Given the description of an element on the screen output the (x, y) to click on. 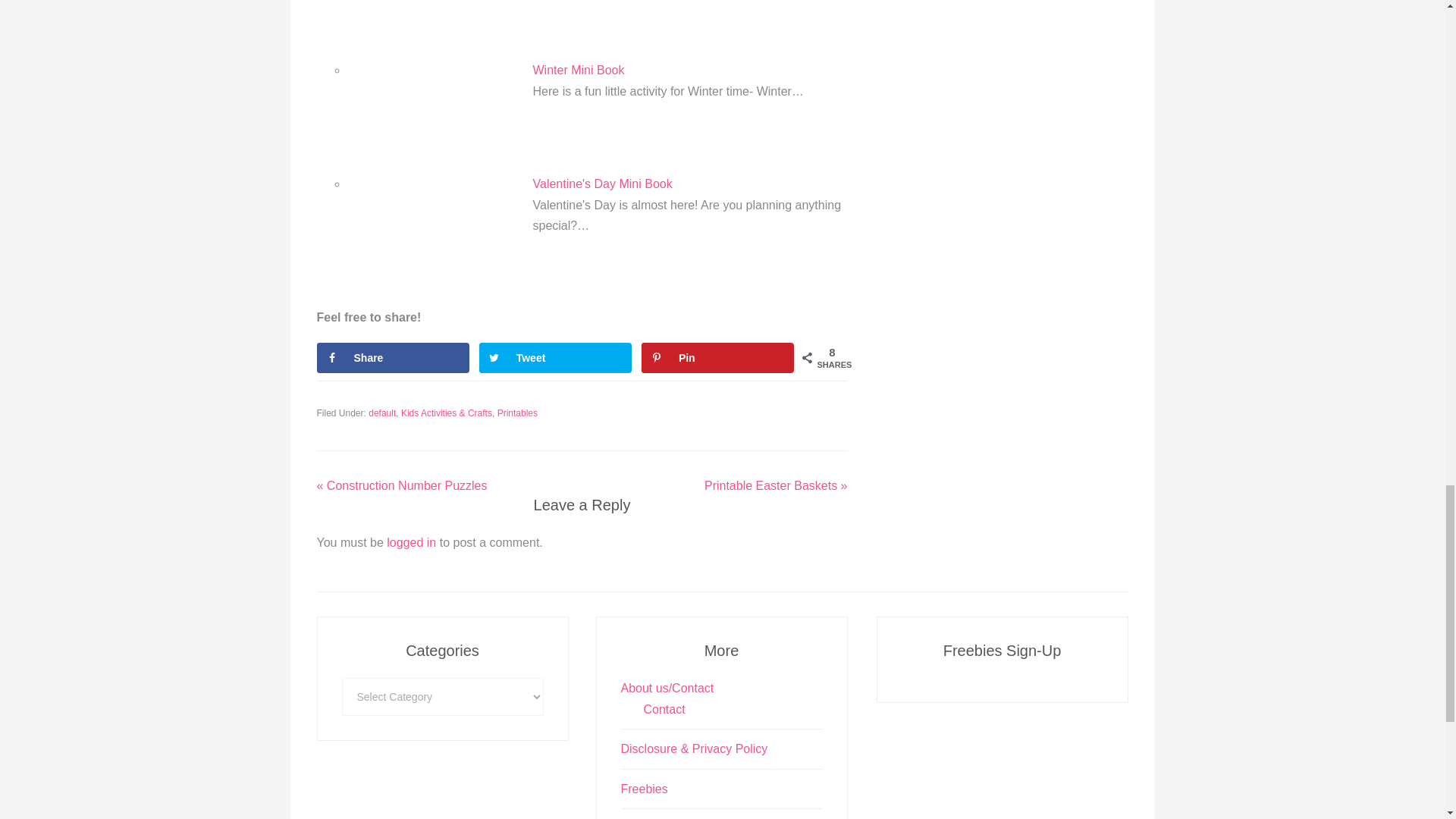
Save to Pinterest (718, 358)
Share on Facebook (393, 358)
Share on Twitter (555, 358)
